Given the description of an element on the screen output the (x, y) to click on. 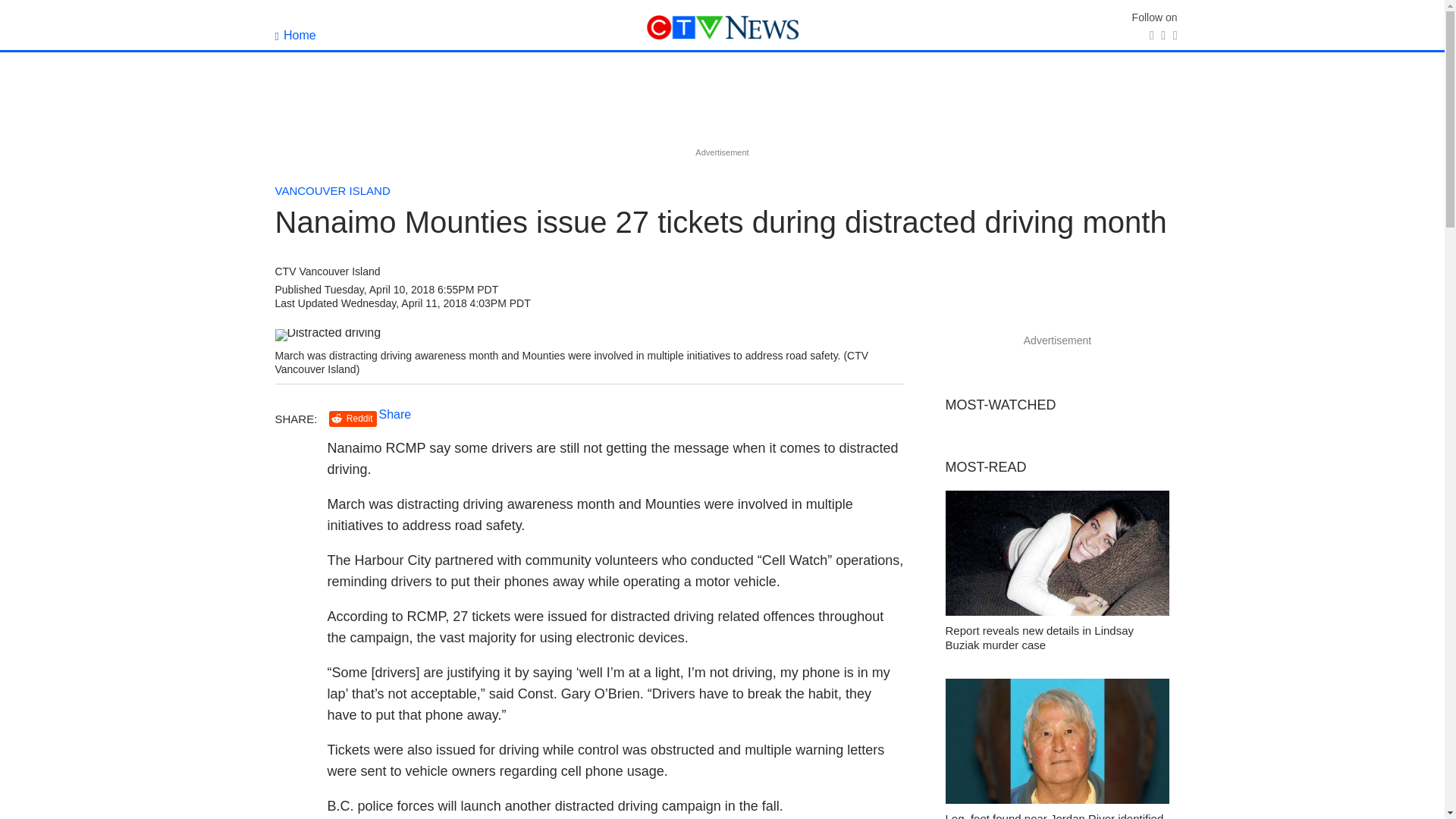
3rd party ad content (721, 109)
VANCOUVER ISLAND (332, 190)
Reddit (353, 418)
Distracted driving (327, 335)
Home (295, 34)
Share (395, 413)
